Given the description of an element on the screen output the (x, y) to click on. 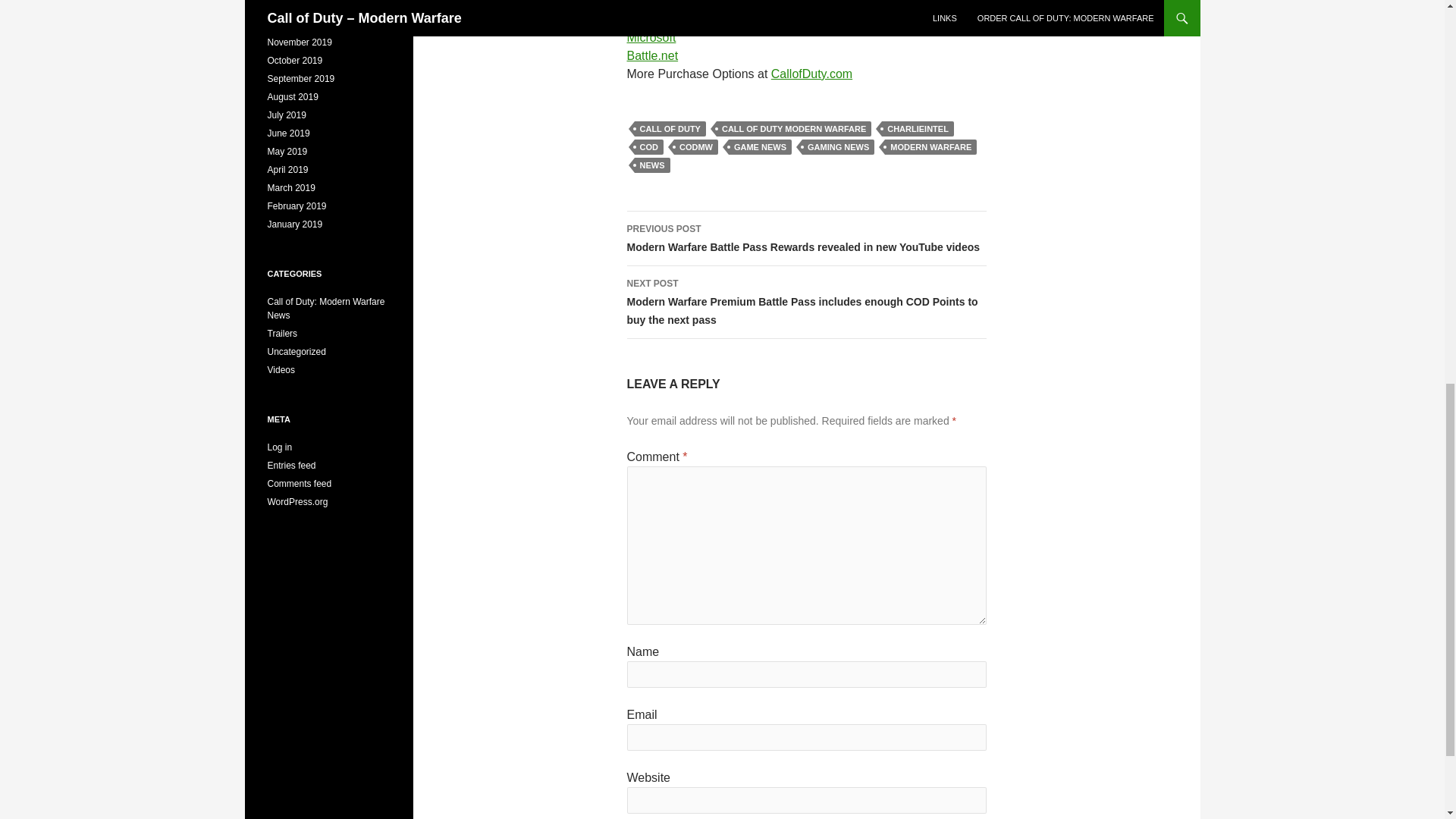
Sony (639, 19)
Microsoft (650, 37)
CallofDuty.com (811, 73)
Battle.net (652, 55)
CALL OF DUTY MODERN WARFARE (793, 128)
CHARLIEINTEL (917, 128)
CALL OF DUTY (668, 128)
NEWS (651, 165)
Ebay (639, 3)
